Given the description of an element on the screen output the (x, y) to click on. 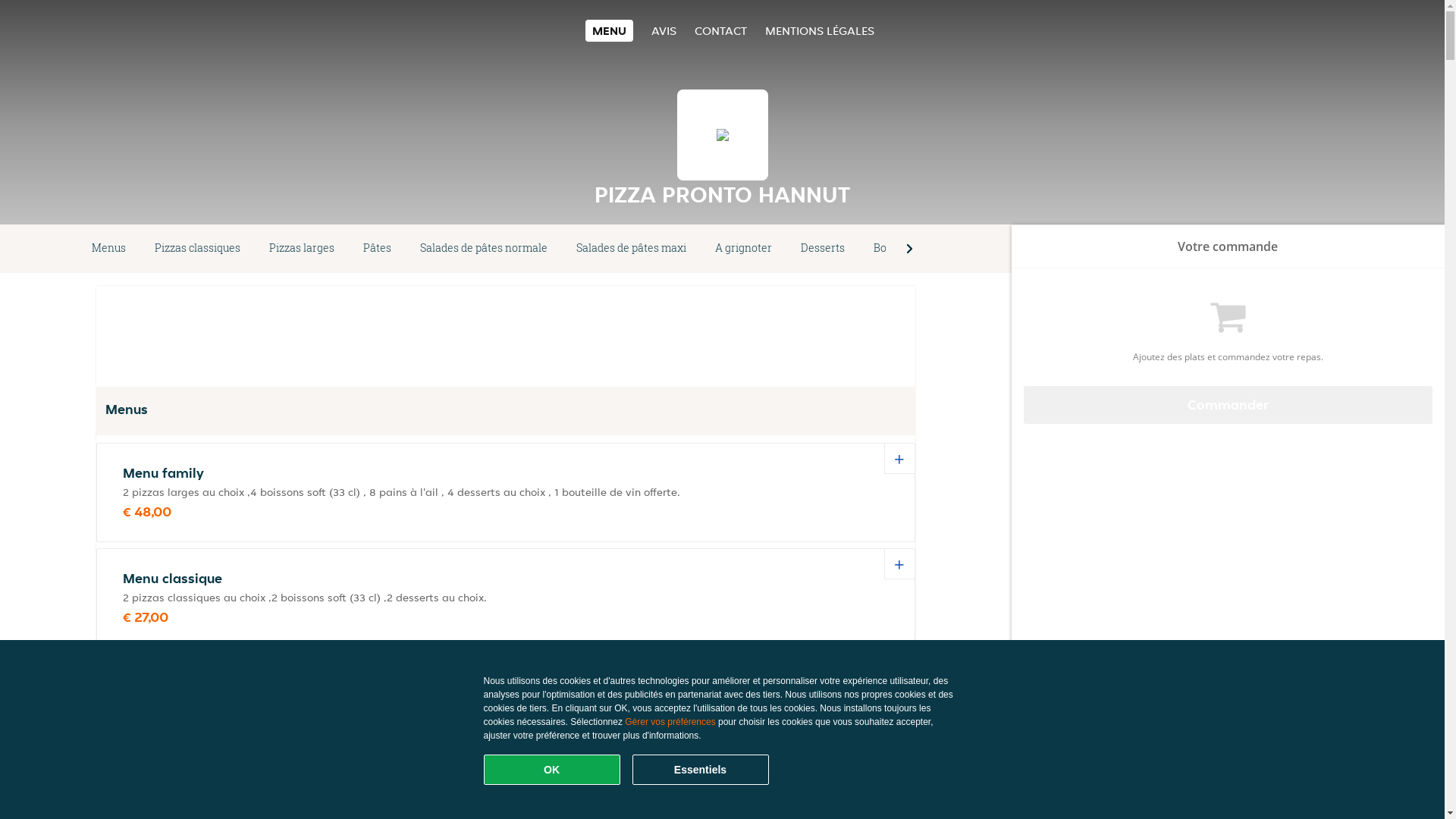
Desserts Element type: text (822, 248)
Pizzas larges Element type: text (301, 248)
AVIS Element type: text (663, 30)
MENU Element type: text (609, 30)
CONTACT Element type: text (720, 30)
Menus Element type: text (108, 248)
Boissons Element type: text (895, 248)
OK Element type: text (551, 769)
A grignoter Element type: text (743, 248)
Commander Element type: text (1228, 404)
Pizzas classiques Element type: text (197, 248)
Essentiels Element type: text (700, 769)
